Given the description of an element on the screen output the (x, y) to click on. 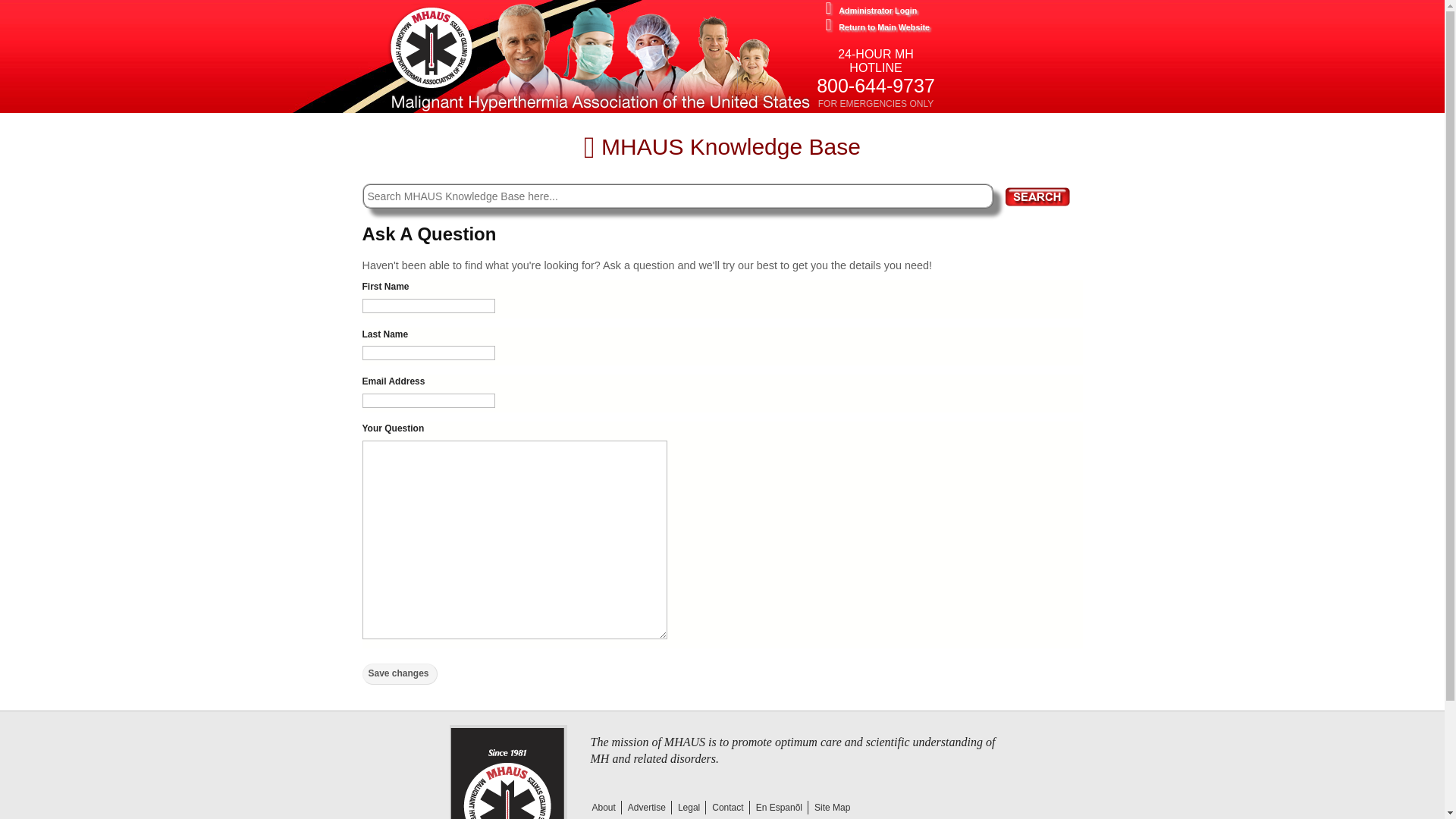
Contact (727, 807)
Legal (687, 807)
doSearch (1038, 196)
Save changes (400, 673)
Administrator Login (947, 8)
Site Map (832, 807)
Advertise (646, 807)
MHAUS Knowledge Base (721, 146)
Save changes (400, 673)
About (602, 807)
Click to log in to the KB admin interface (947, 8)
Return to our main website from the Knowledge Base area (947, 25)
Return to Main Website (947, 25)
